Given the description of an element on the screen output the (x, y) to click on. 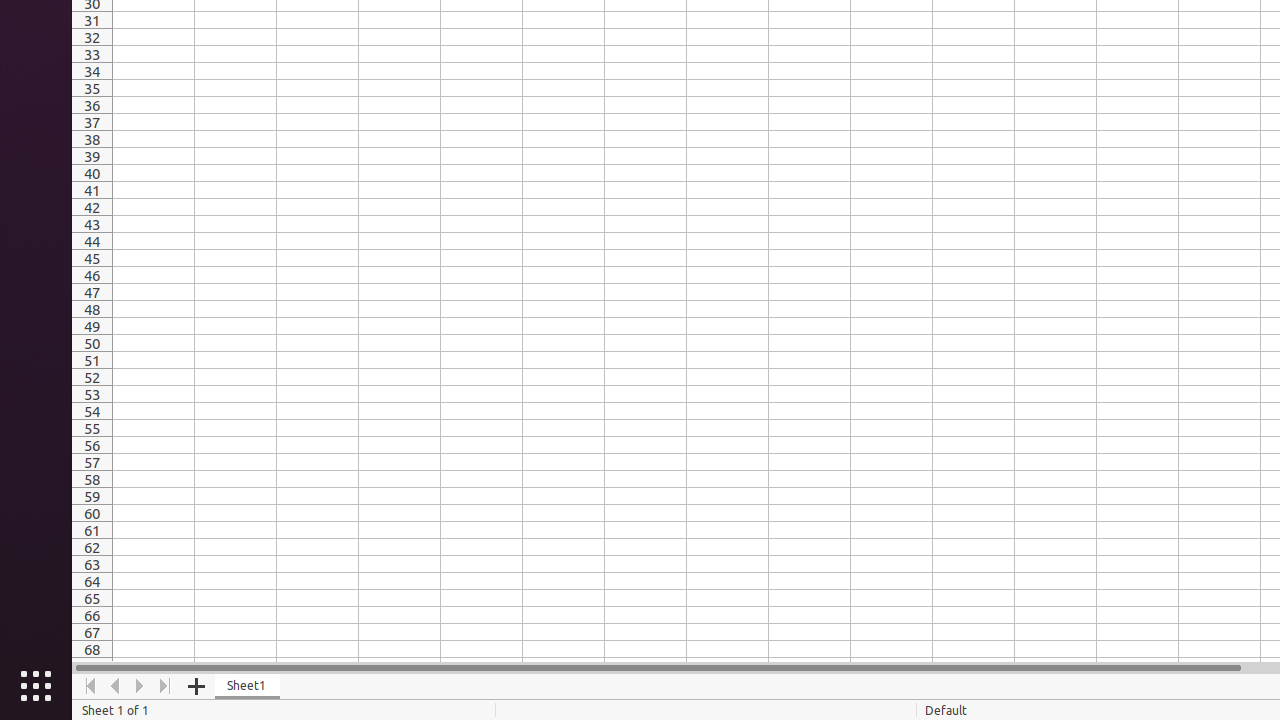
Move To Home Element type: push-button (90, 686)
Move Left Element type: push-button (115, 686)
Move Right Element type: push-button (140, 686)
Move To End Element type: push-button (165, 686)
